Given the description of an element on the screen output the (x, y) to click on. 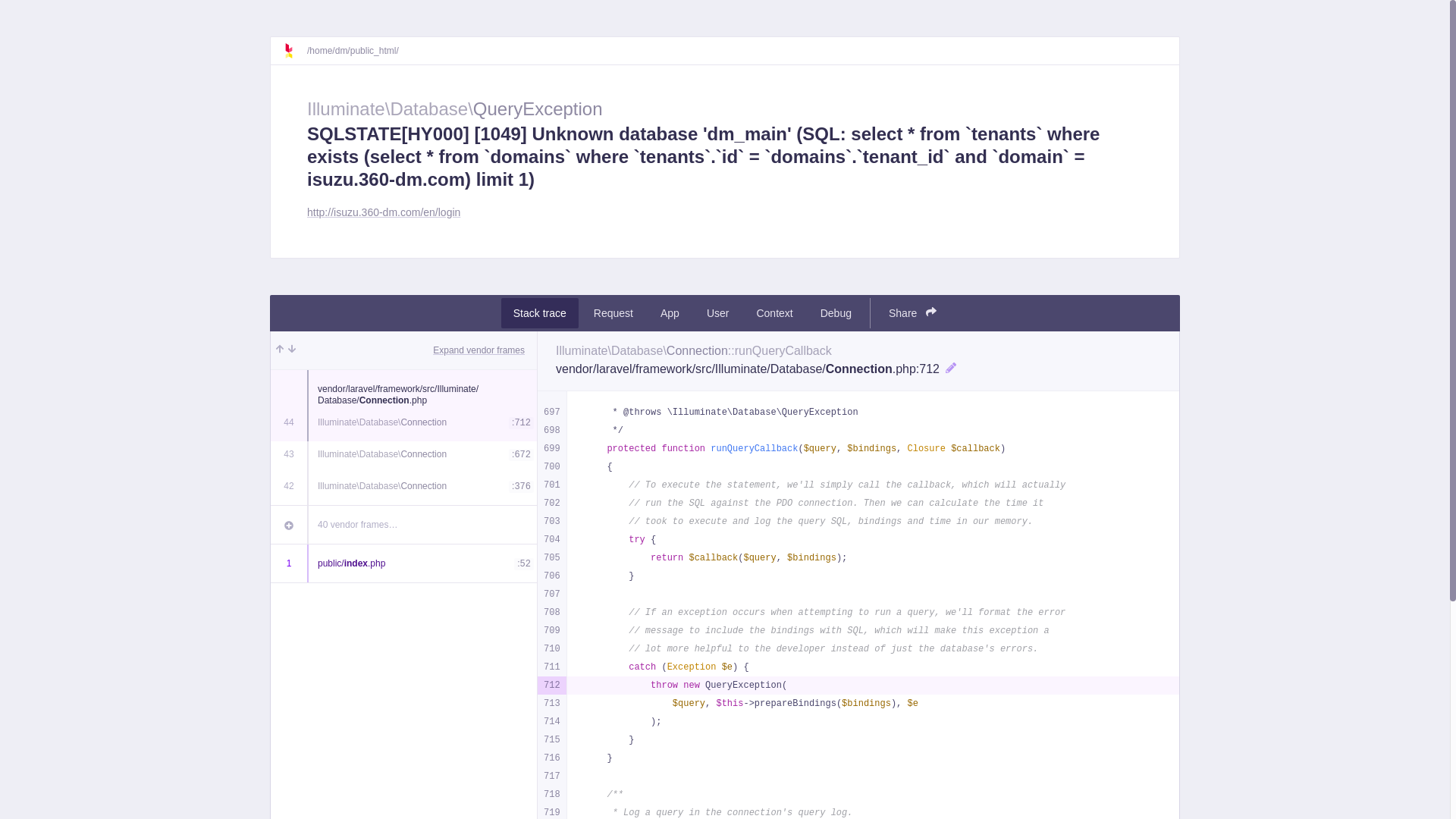
Debug Element type: text (835, 313)
Ignition docs Element type: hover (294, 50)
User Element type: text (717, 313)
Stack trace Element type: text (539, 313)
Expand vendor frames Element type: text (478, 350)
http://isuzu.360-dm.com/en/login Element type: text (383, 212)
Request Element type: text (613, 313)
Frame down (Key:J) Element type: hover (291, 350)
Frame up (Key:K) Element type: hover (279, 350)
Context Element type: text (773, 313)
App Element type: text (669, 313)
Share Element type: text (912, 313)
